Given the description of an element on the screen output the (x, y) to click on. 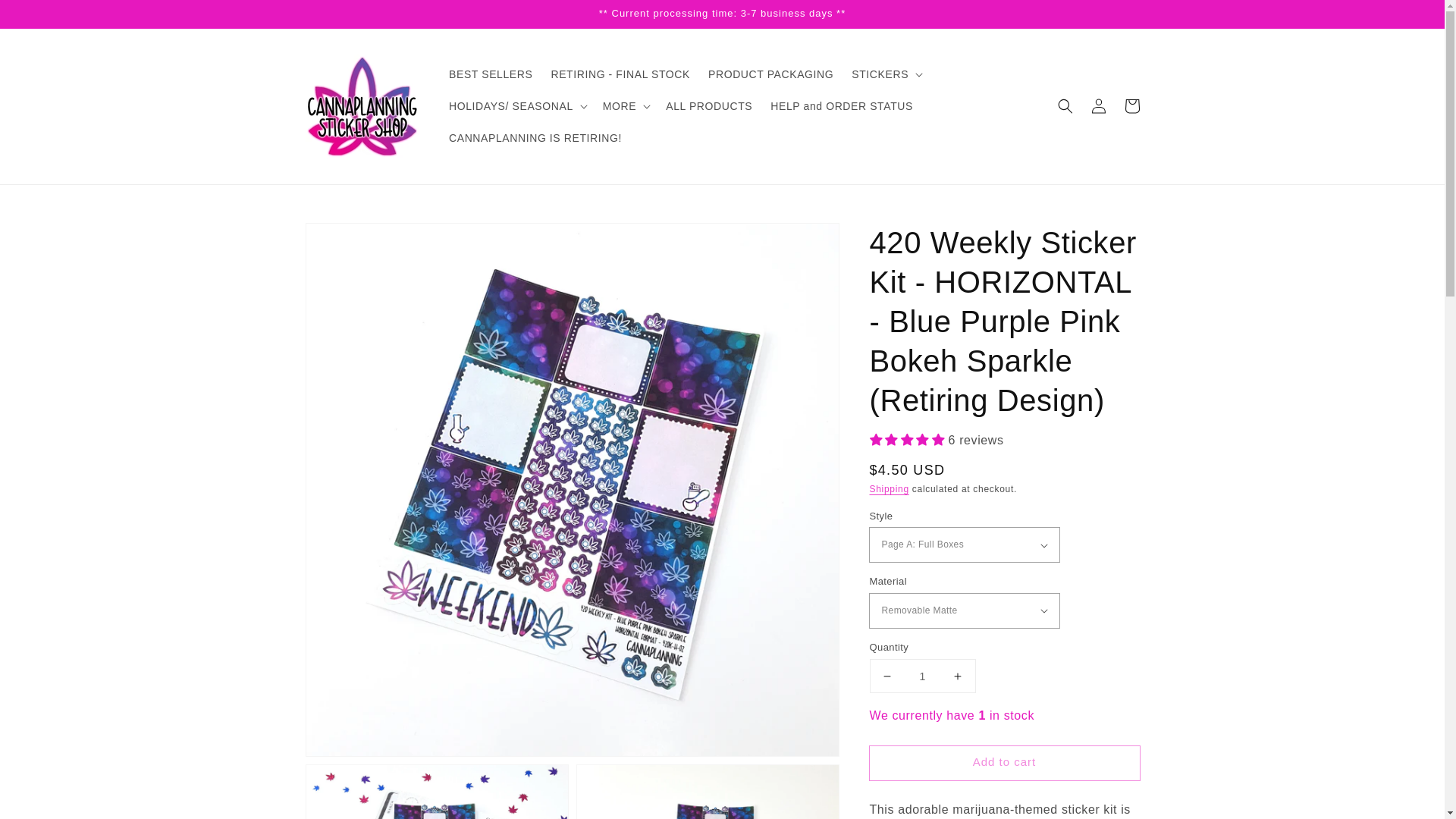
Skip to content (45, 16)
1 (922, 676)
